Given the description of an element on the screen output the (x, y) to click on. 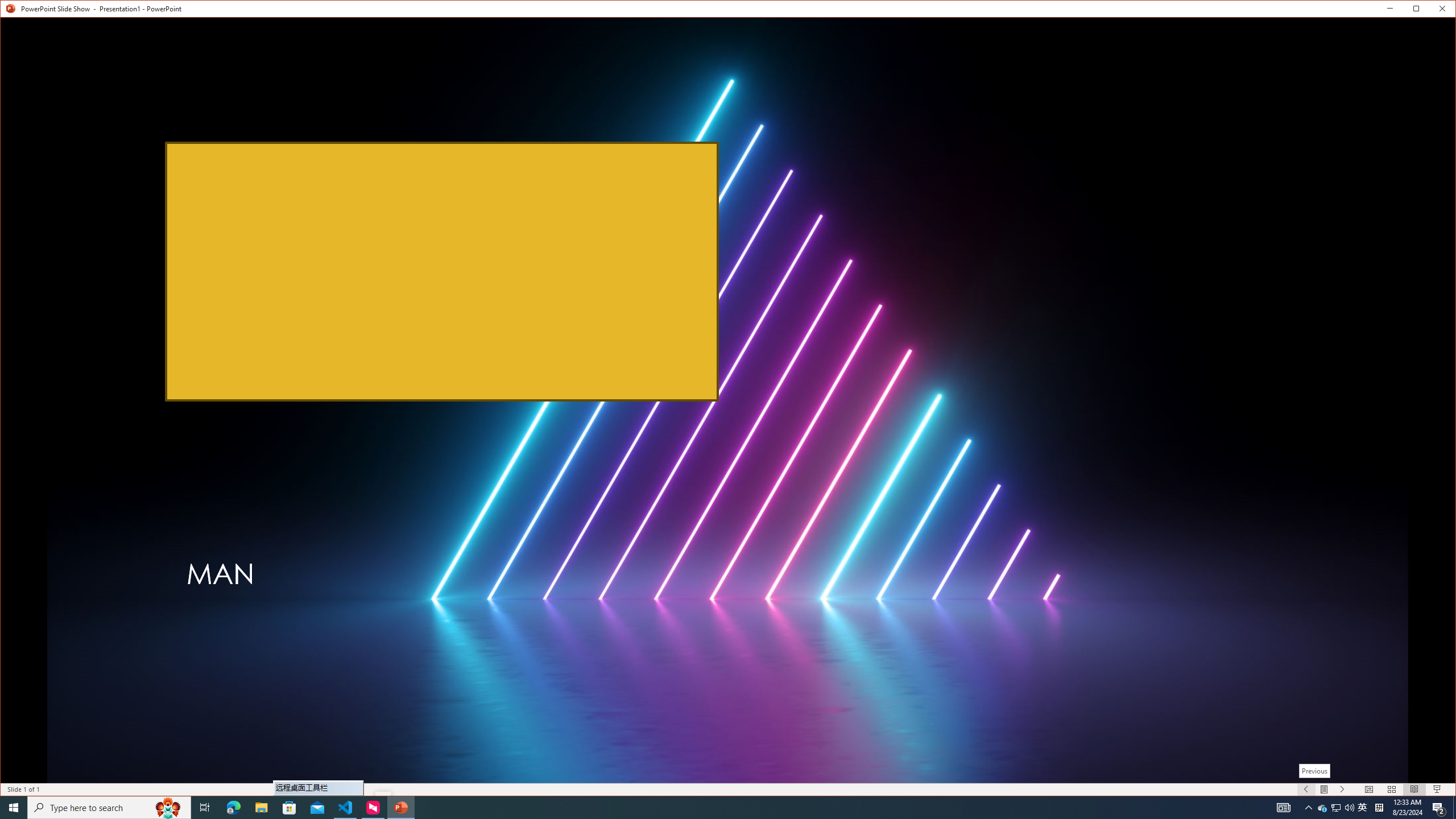
Slide Show Next On (1342, 789)
Menu On (1324, 789)
